Given the description of an element on the screen output the (x, y) to click on. 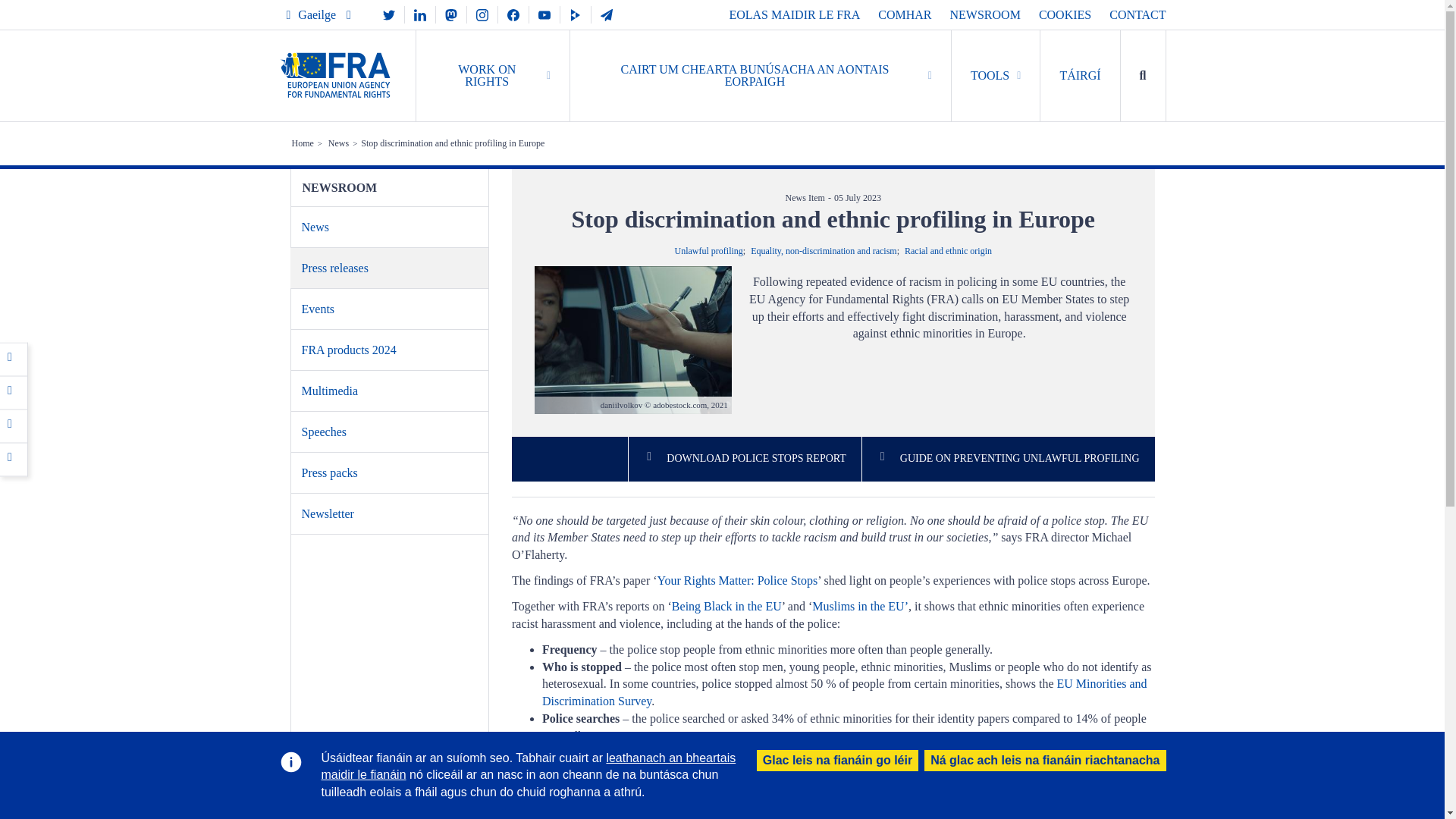
Facebook (13, 358)
FRA's Mastodon channel (450, 13)
FRA's LinkedIn channel (419, 13)
CONTACT (1137, 14)
LinkedIn (419, 13)
YouTube (544, 13)
FRA's Twitter channel (389, 13)
FRA's Facebook channel (512, 13)
LinkedIn (13, 424)
Facebook (13, 358)
Mastodon (450, 13)
R-phost (13, 458)
LinkedIn (13, 424)
FRA's Instagram channel (482, 13)
